Given the description of an element on the screen output the (x, y) to click on. 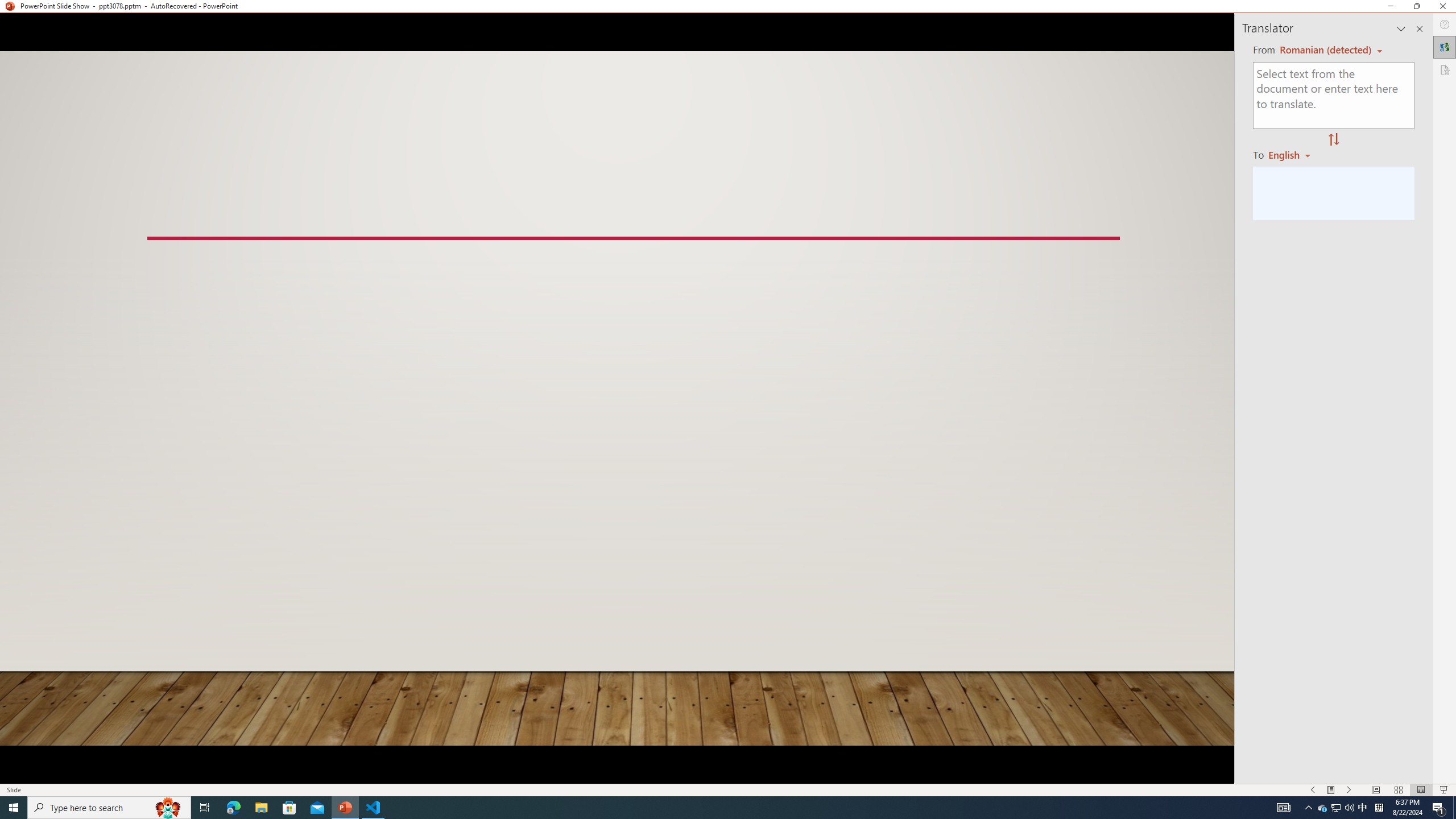
Class: MsoCommandBar (728, 789)
Normal (1375, 790)
Close pane (1419, 29)
Swap "from" and "to" languages. (1333, 140)
Slide Sorter (1398, 790)
Menu On (1331, 790)
Slide Show Previous On (1313, 790)
Romanian (1293, 154)
Reading View (1420, 790)
Romanian (detected) (1323, 50)
